Given the description of an element on the screen output the (x, y) to click on. 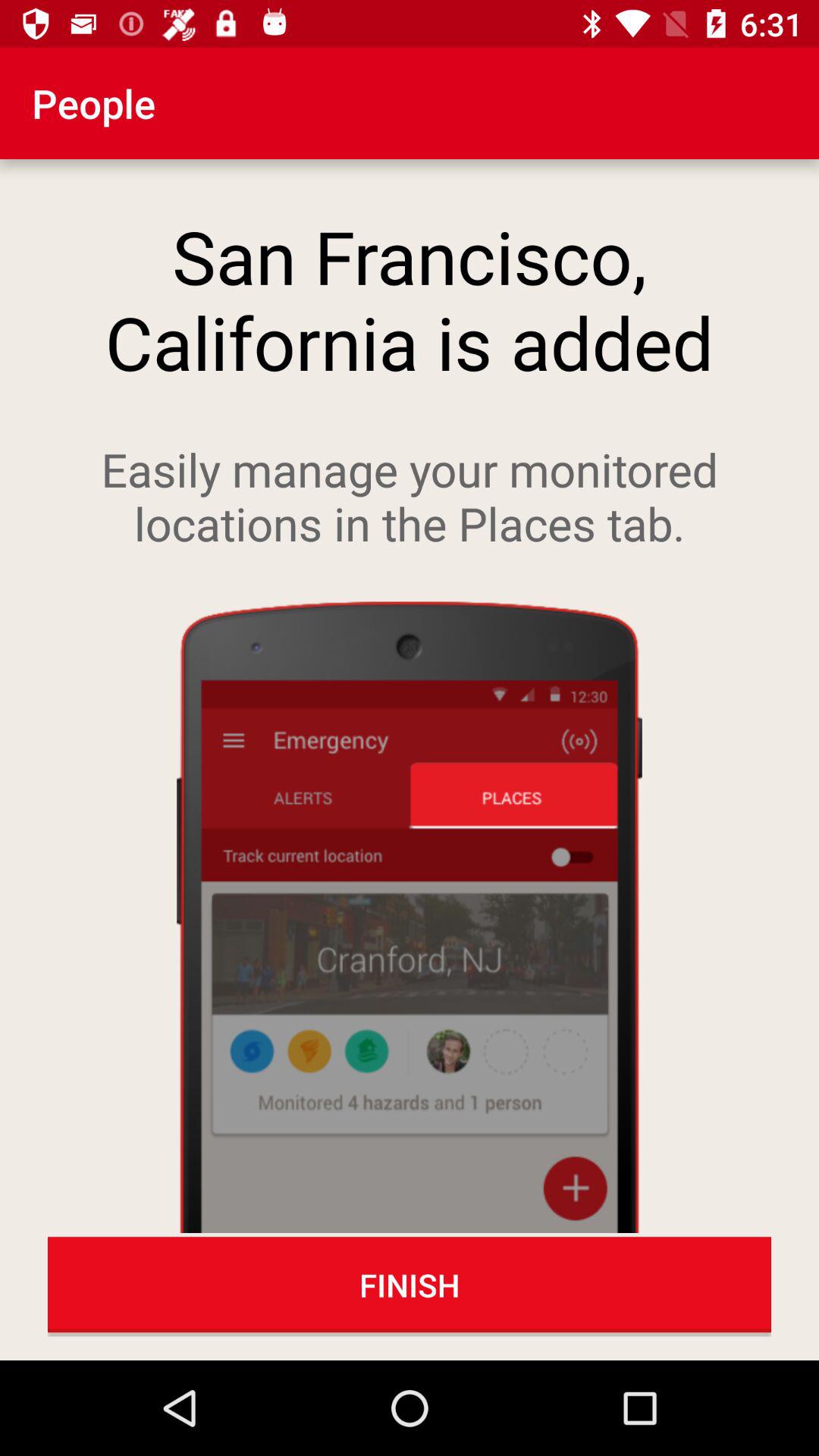
choose the finish icon (409, 1284)
